Given the description of an element on the screen output the (x, y) to click on. 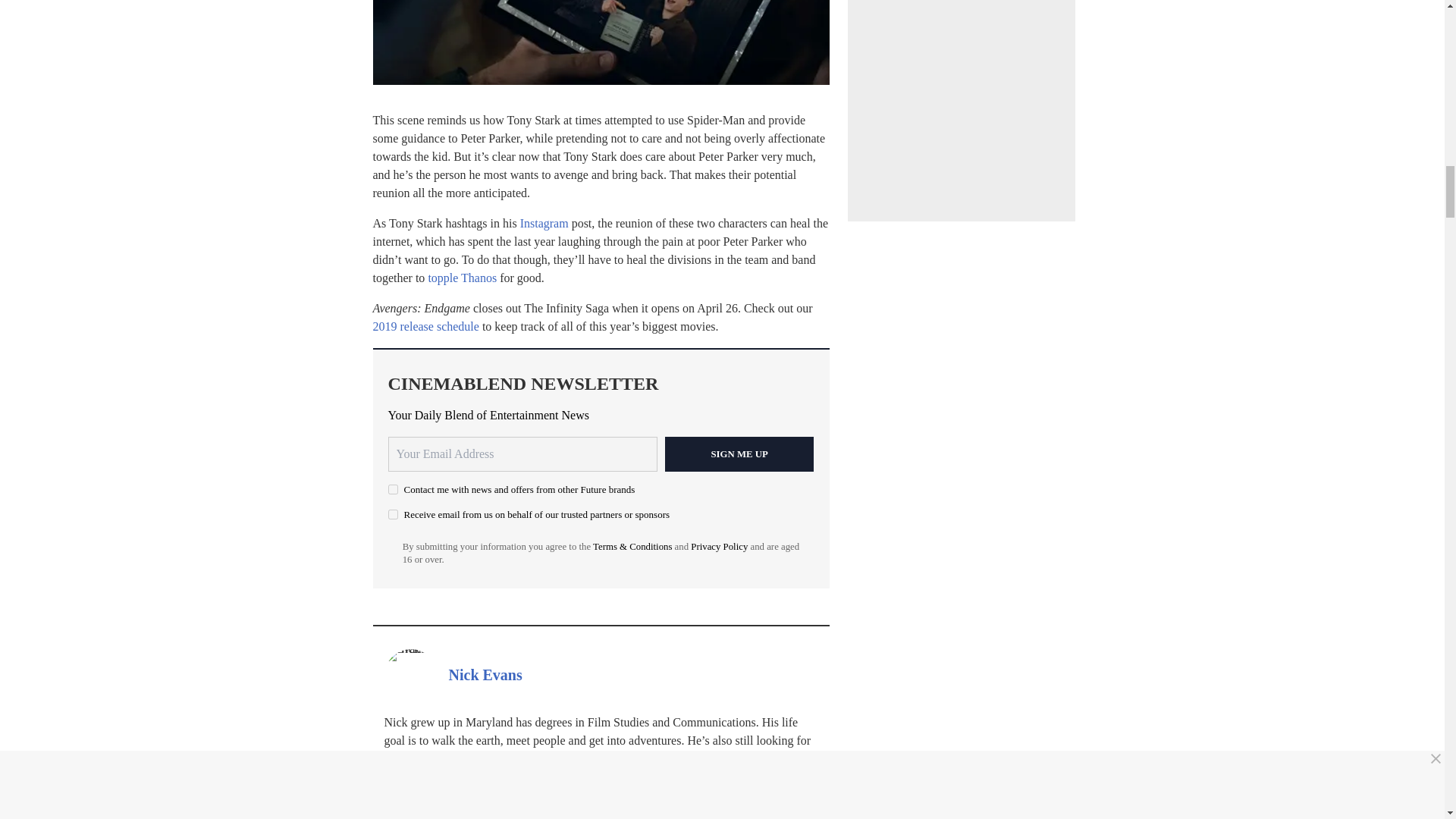
on (392, 514)
Sign me up (739, 453)
on (392, 489)
